Given the description of an element on the screen output the (x, y) to click on. 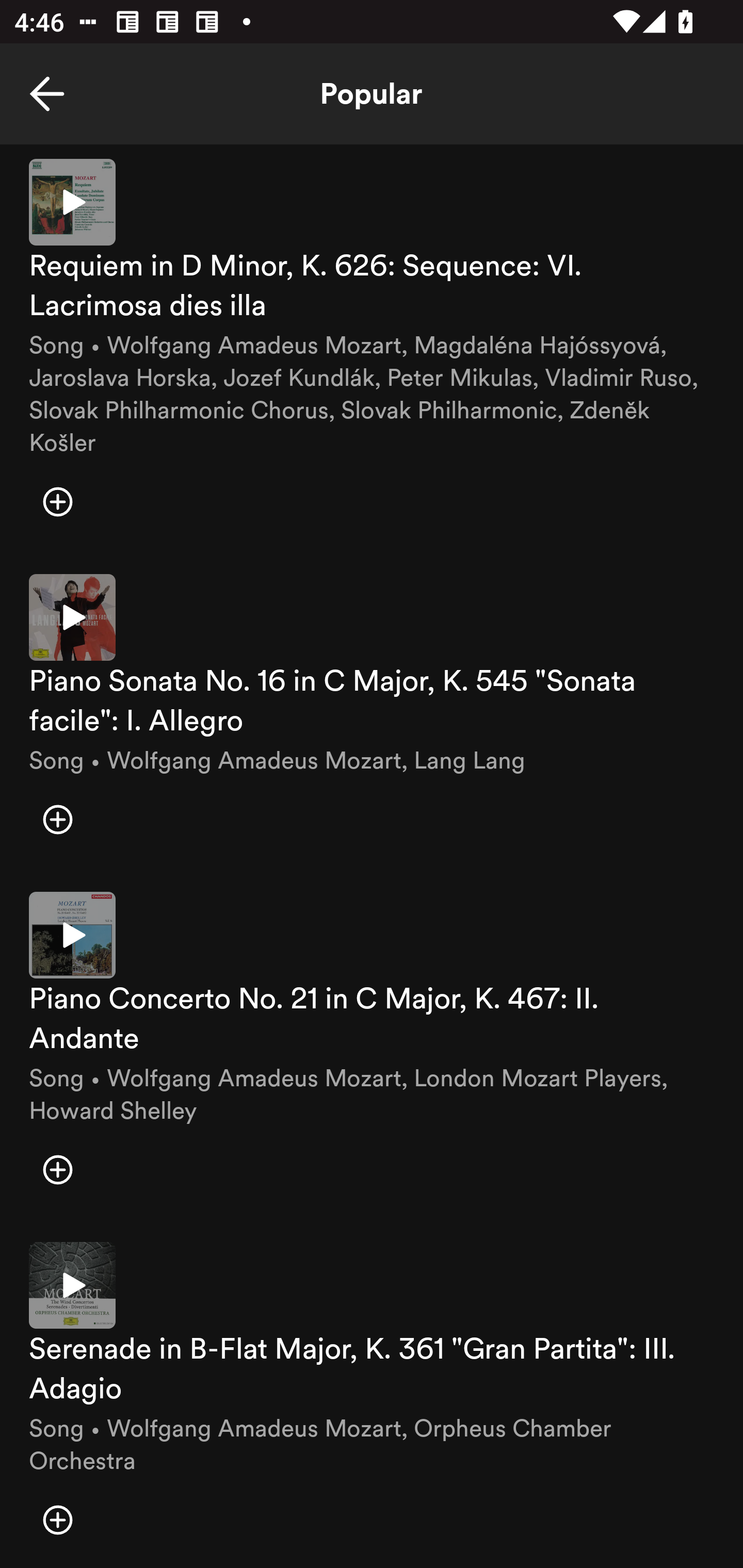
Back (46, 93)
Play preview (71, 202)
Add item (57, 501)
Play preview (71, 616)
Add item (57, 819)
Play preview (71, 935)
Add item (57, 1169)
Play preview (71, 1284)
Add item (57, 1520)
